Given the description of an element on the screen output the (x, y) to click on. 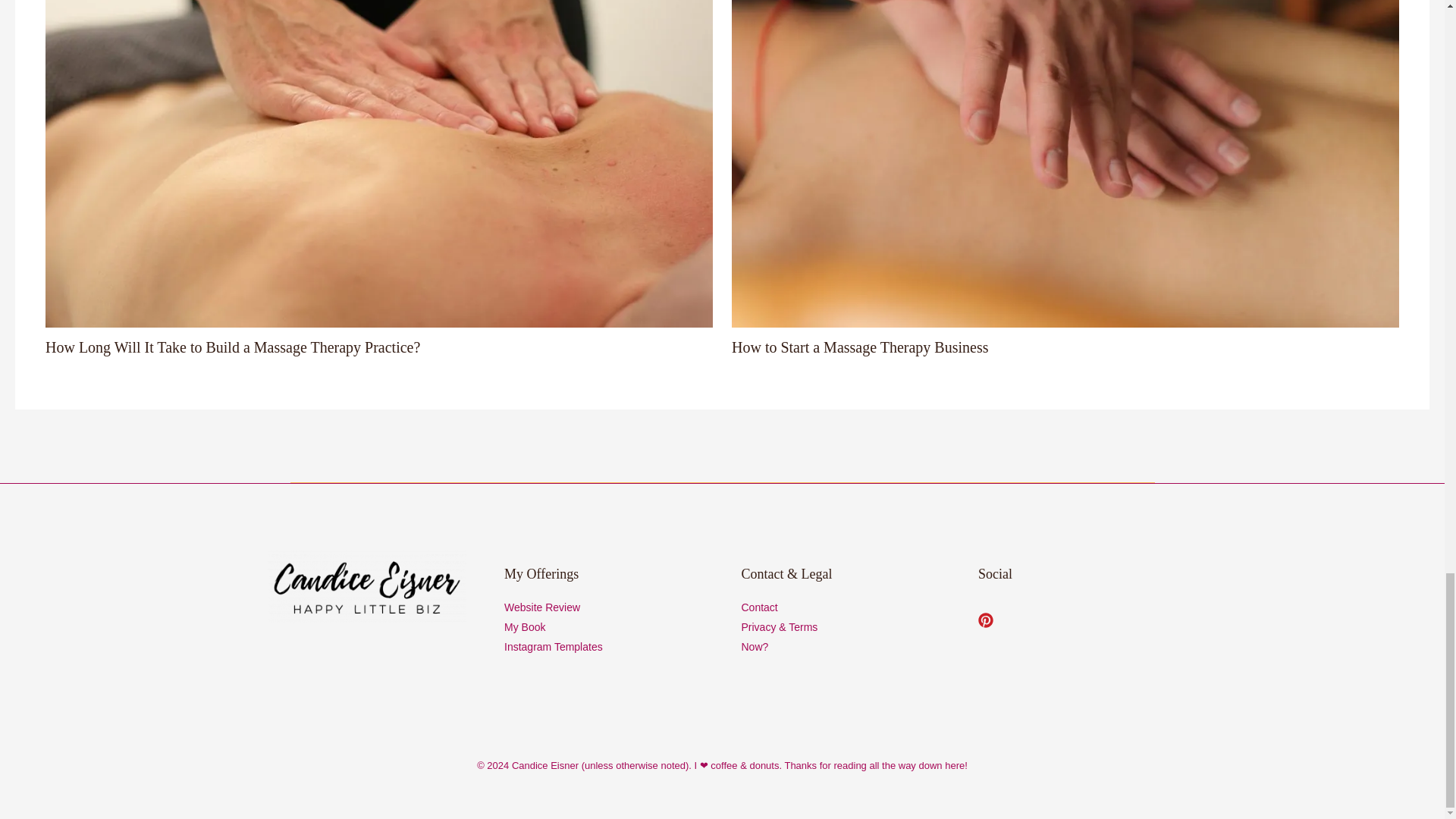
Contact (759, 607)
How to Start a Massage Therapy Business (860, 347)
My Book (523, 626)
Now? (754, 646)
Instagram Templates (552, 646)
Website Review (541, 607)
How Long Will It Take to Build a Massage Therapy Practice? (232, 347)
